Given the description of an element on the screen output the (x, y) to click on. 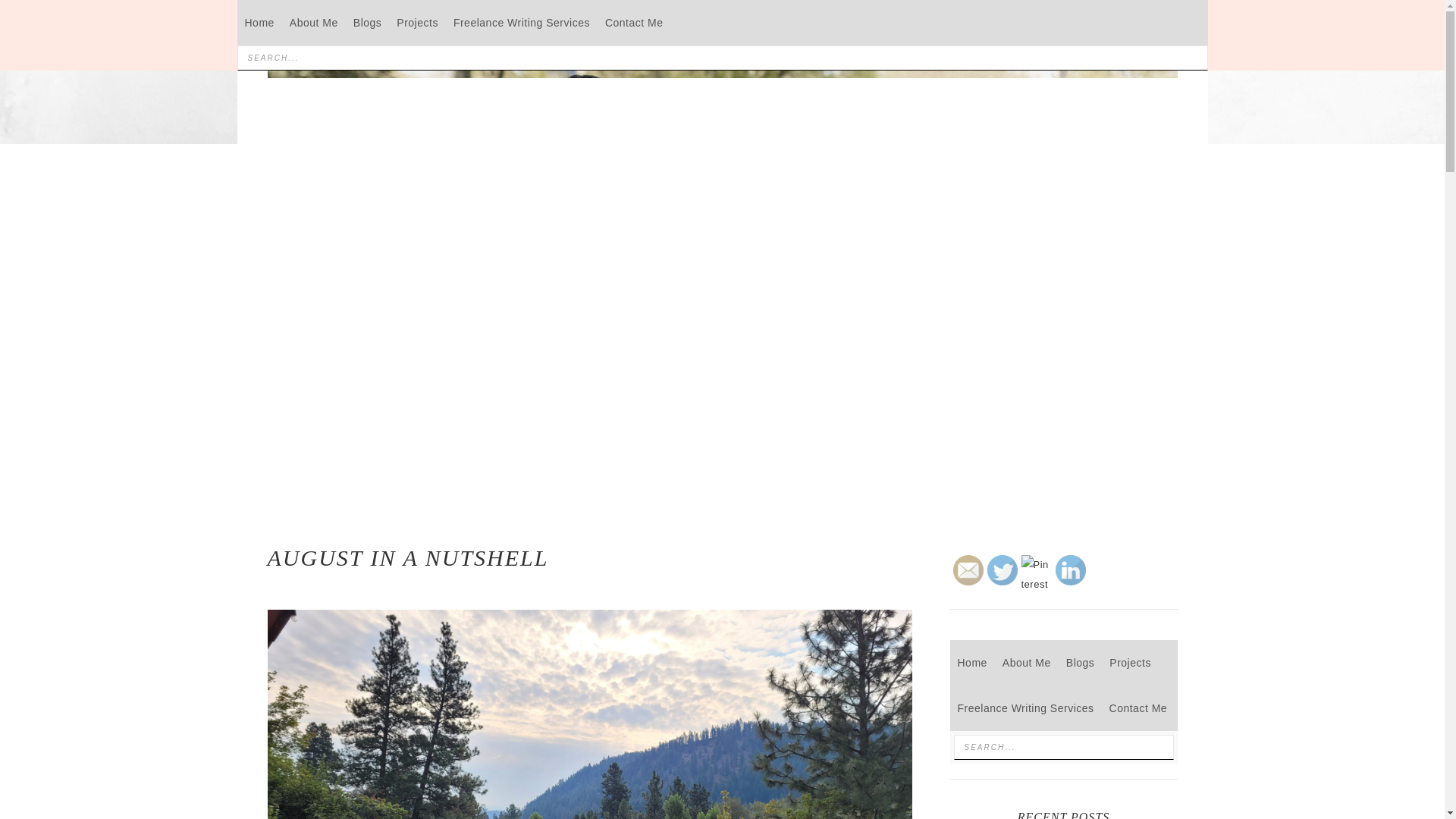
Blogs (1080, 662)
Freelance Writing Services (1024, 708)
LinkedIn (1070, 570)
Home (258, 22)
Projects (1130, 662)
